Given the description of an element on the screen output the (x, y) to click on. 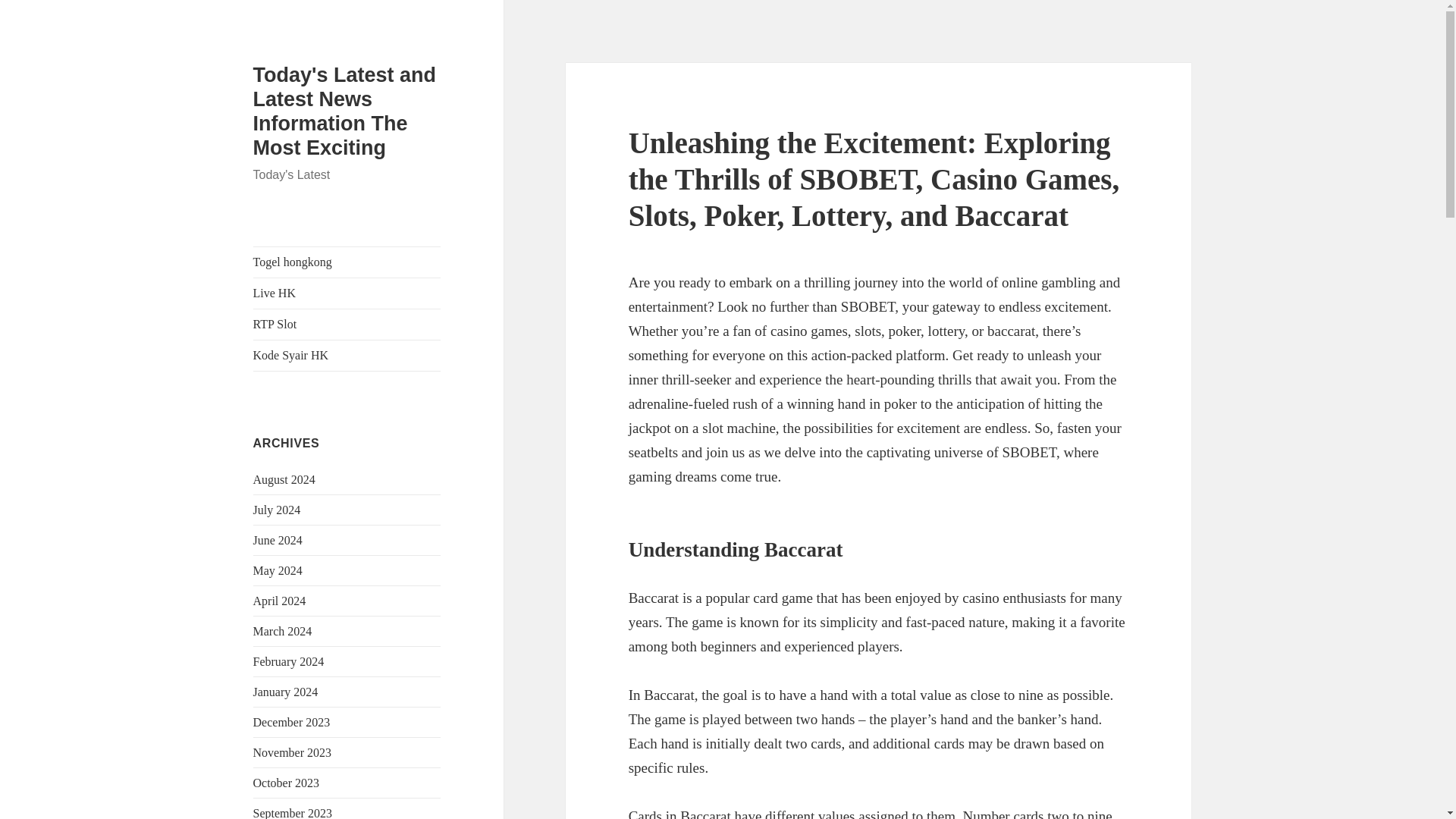
November 2023 (292, 752)
March 2024 (283, 631)
April 2024 (279, 600)
Togel hongkong (347, 262)
January 2024 (285, 691)
September 2023 (292, 812)
August 2024 (284, 479)
RTP Slot (347, 324)
Kode Syair HK (347, 355)
February 2024 (288, 661)
